Given the description of an element on the screen output the (x, y) to click on. 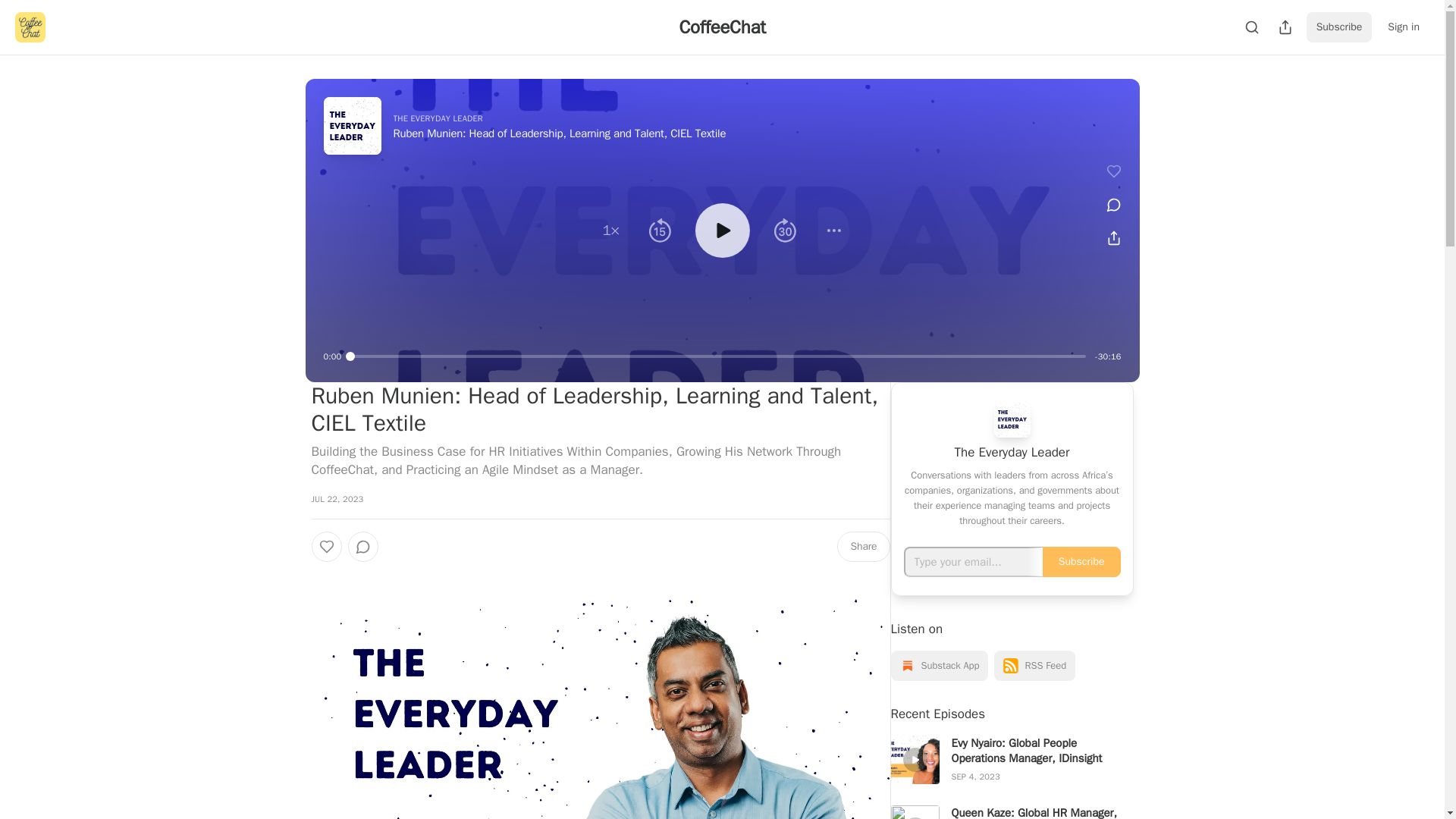
CoffeeChat (721, 26)
Sign in (1403, 27)
Share (863, 546)
Subscribe (1339, 27)
